Given the description of an element on the screen output the (x, y) to click on. 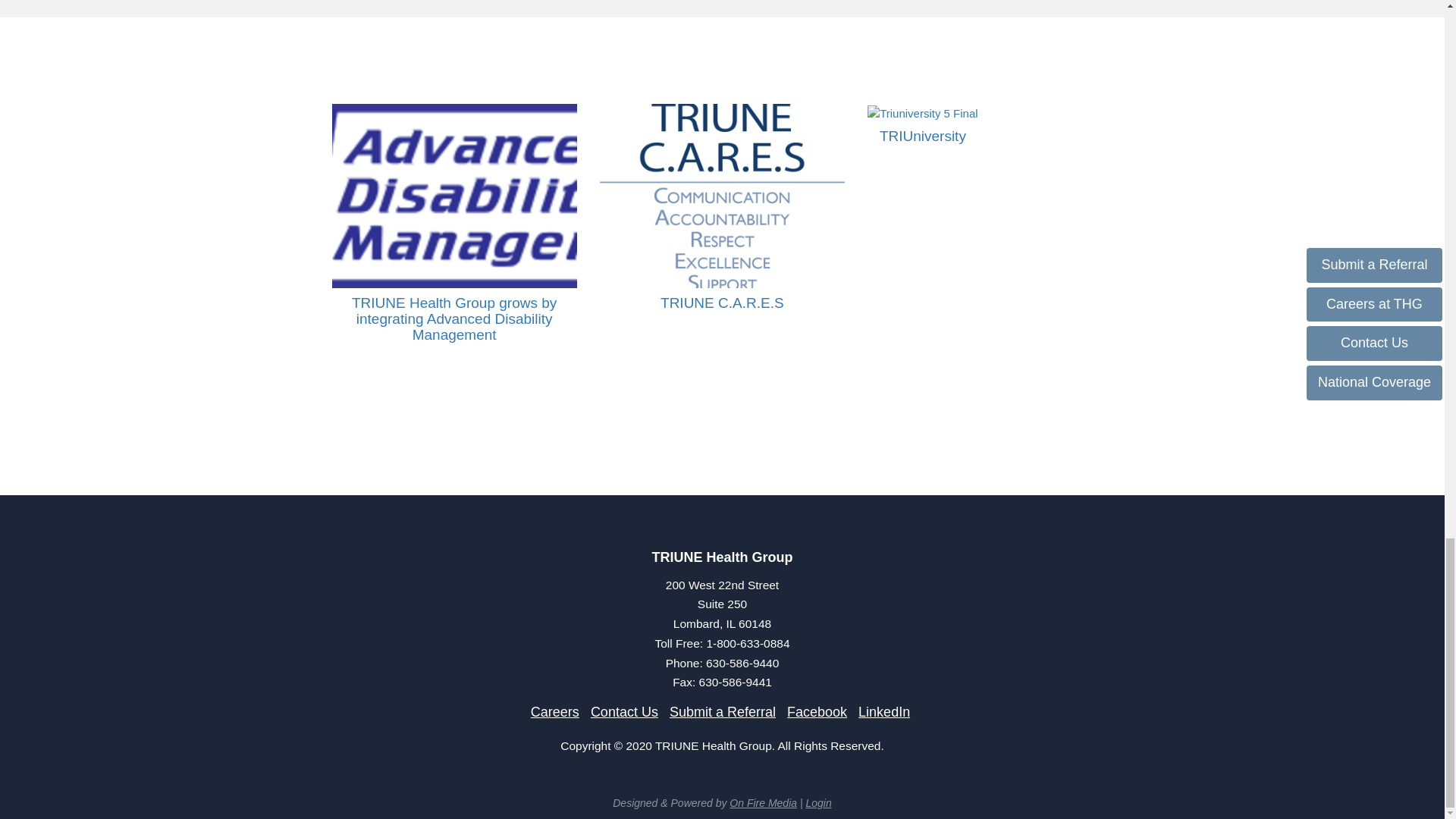
TRIUNE Health Group on Facebook (817, 711)
Careers (555, 711)
TRIUniversity (922, 135)
Submit a Referral (722, 711)
TRIUNE C.A.R.E.S (722, 302)
LinkedIn (884, 711)
Contact Us (624, 711)
TRIUNE Health Group on LinkedIn (884, 711)
Facebook (817, 711)
